Given the description of an element on the screen output the (x, y) to click on. 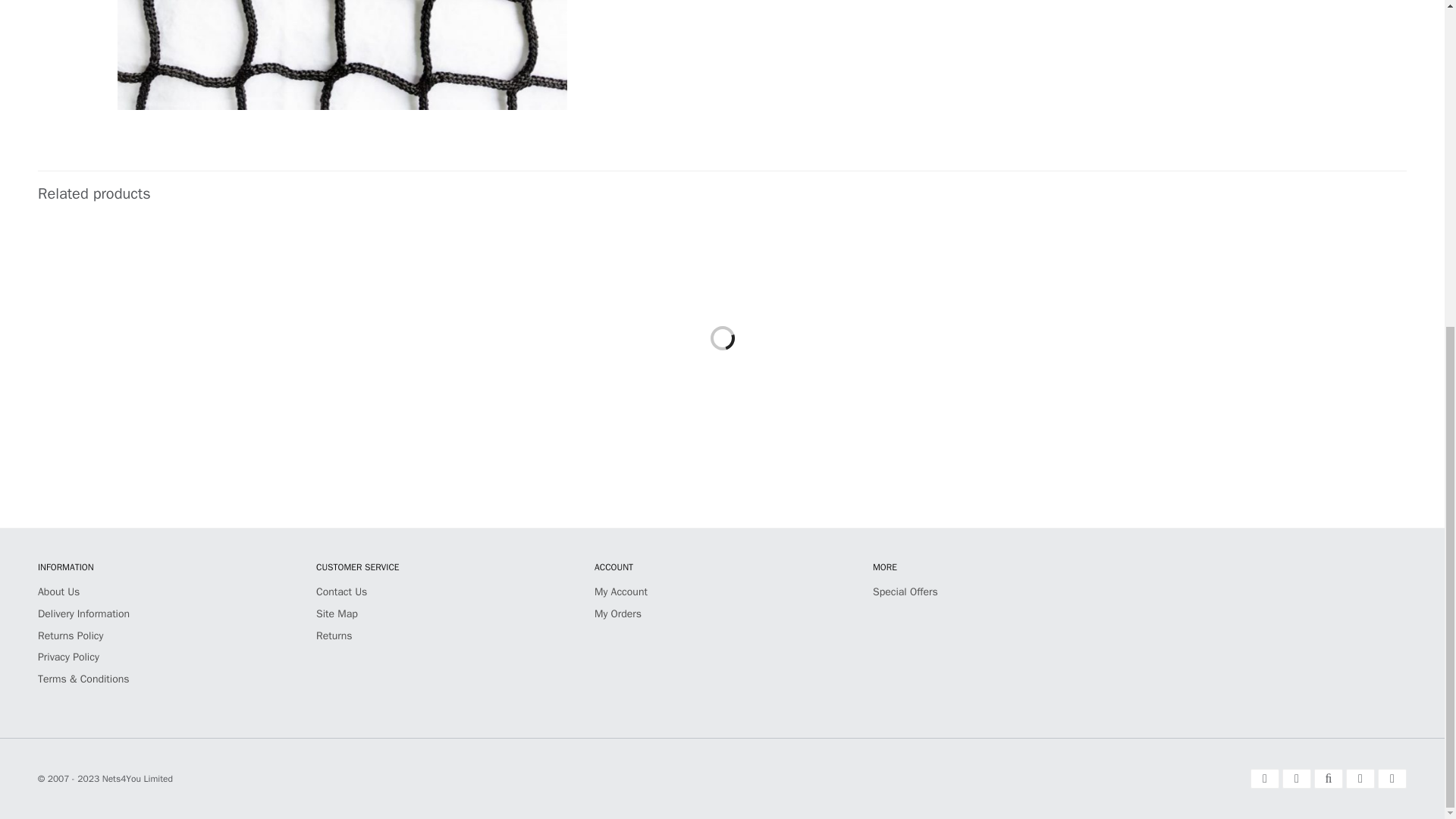
45-3 net (342, 54)
Elasticated Cargo Net 105cm x 150cm (837, 329)
Extra Heavy Duty Cargo Net 1m x 0.9m 45mm Mesh Blue (374, 329)
Extra Heavy Duty Cargo Net 45mm Mesh Black (606, 329)
Elasticated Cargo Net 25cm x 82cm (142, 329)
